Given the description of an element on the screen output the (x, y) to click on. 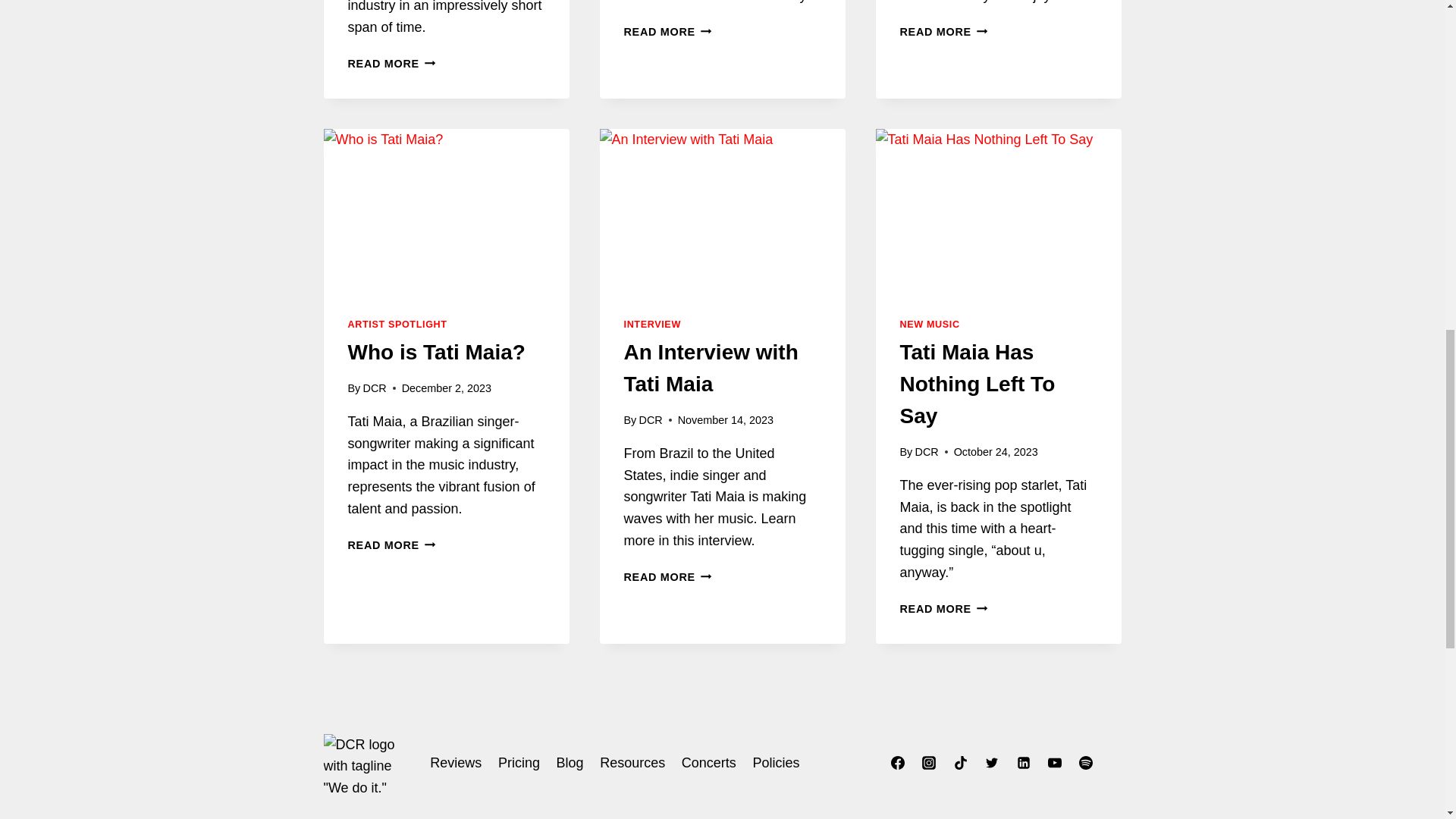
DCR (373, 387)
INTERVIEW (651, 324)
Who is Tati Maia? (391, 63)
ARTIST SPOTLIGHT (667, 31)
